Given the description of an element on the screen output the (x, y) to click on. 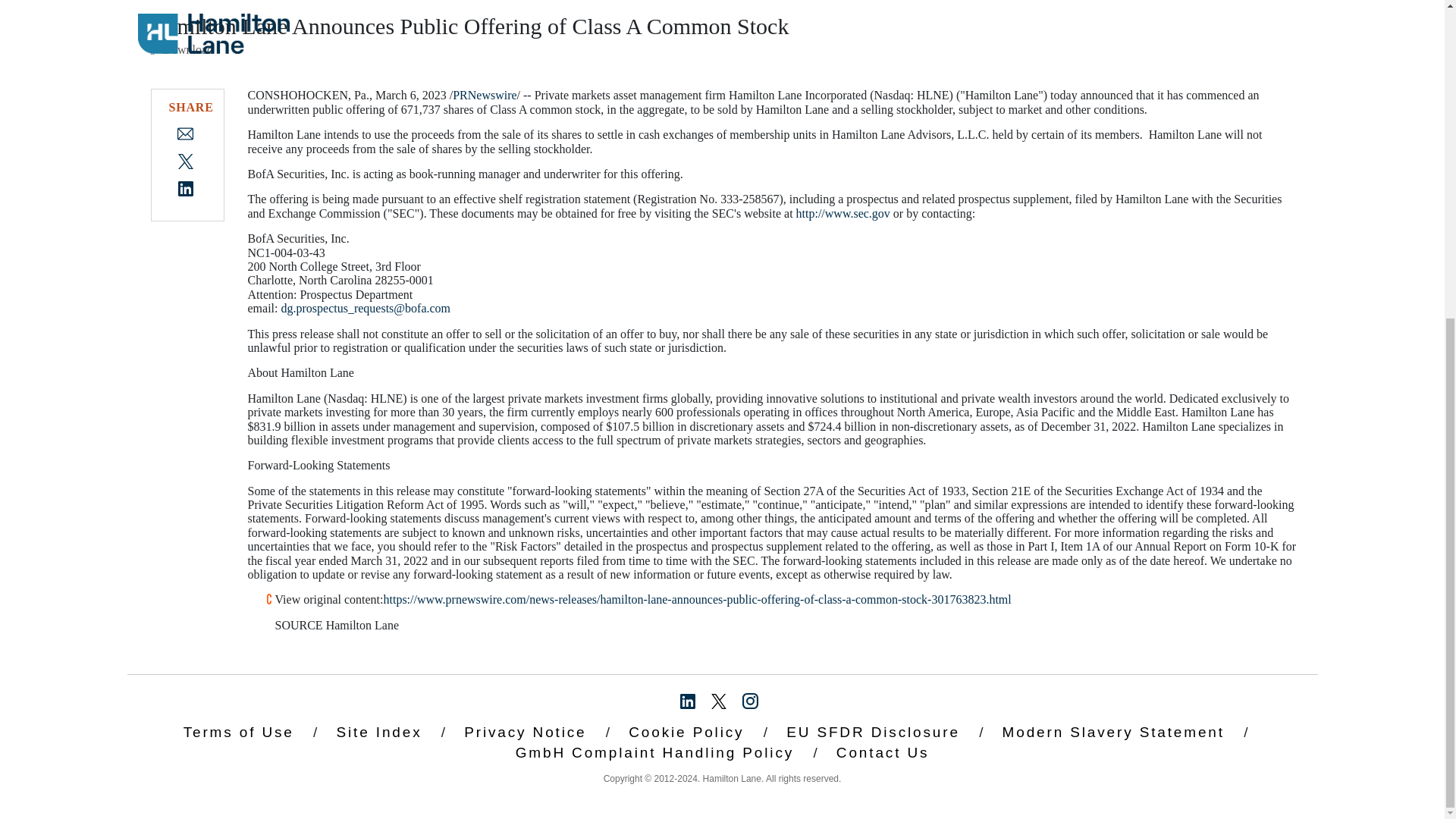
Email the URL of this page to a friend (185, 132)
Cision (268, 598)
Linkedin Share (184, 187)
Twitter Share (184, 160)
